Given the description of an element on the screen output the (x, y) to click on. 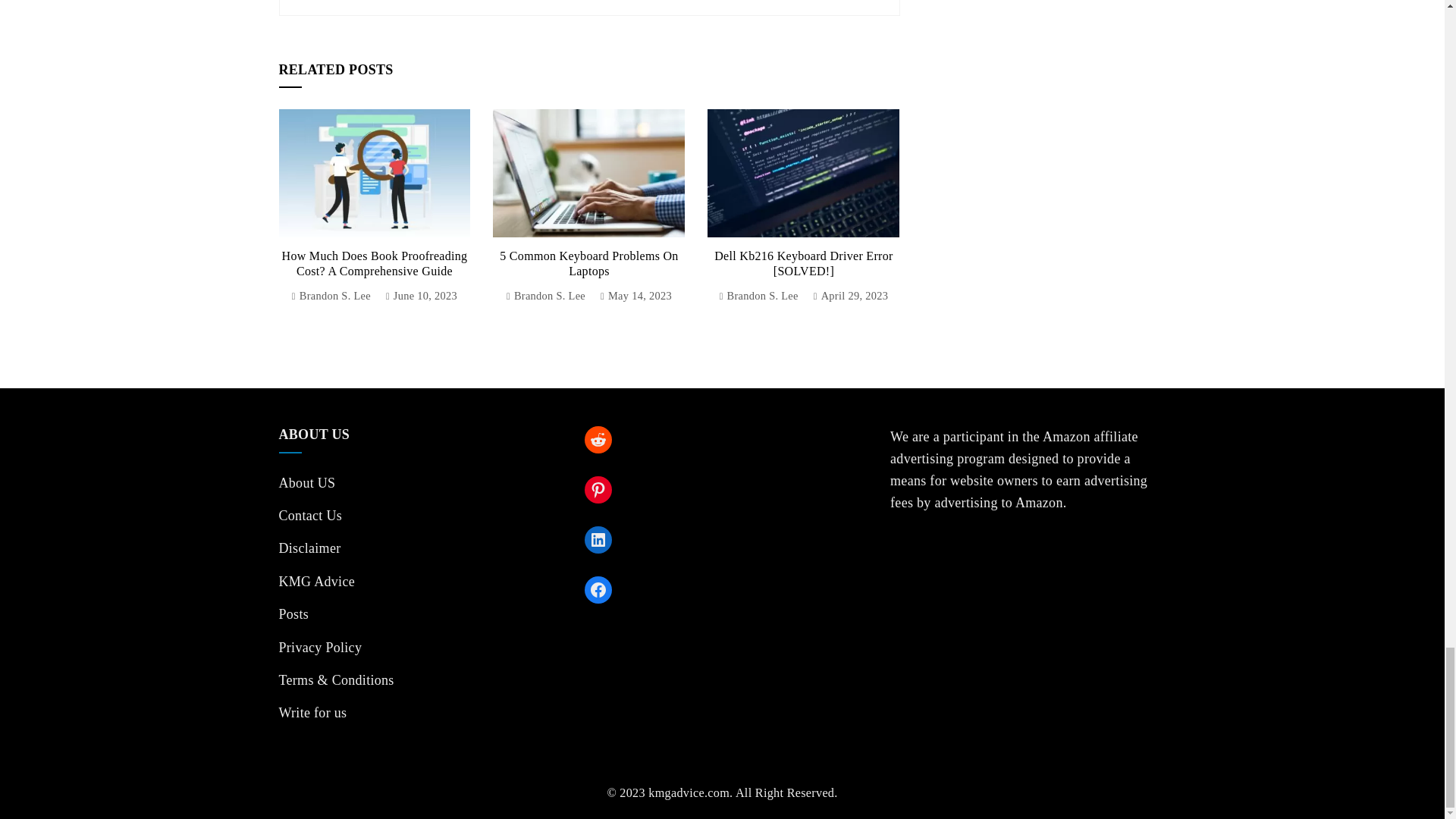
How Much Does Book Proofreading Cost? A Comprehensive Guide (374, 263)
5 Common Keyboard Problems on Laptops (588, 263)
